Given the description of an element on the screen output the (x, y) to click on. 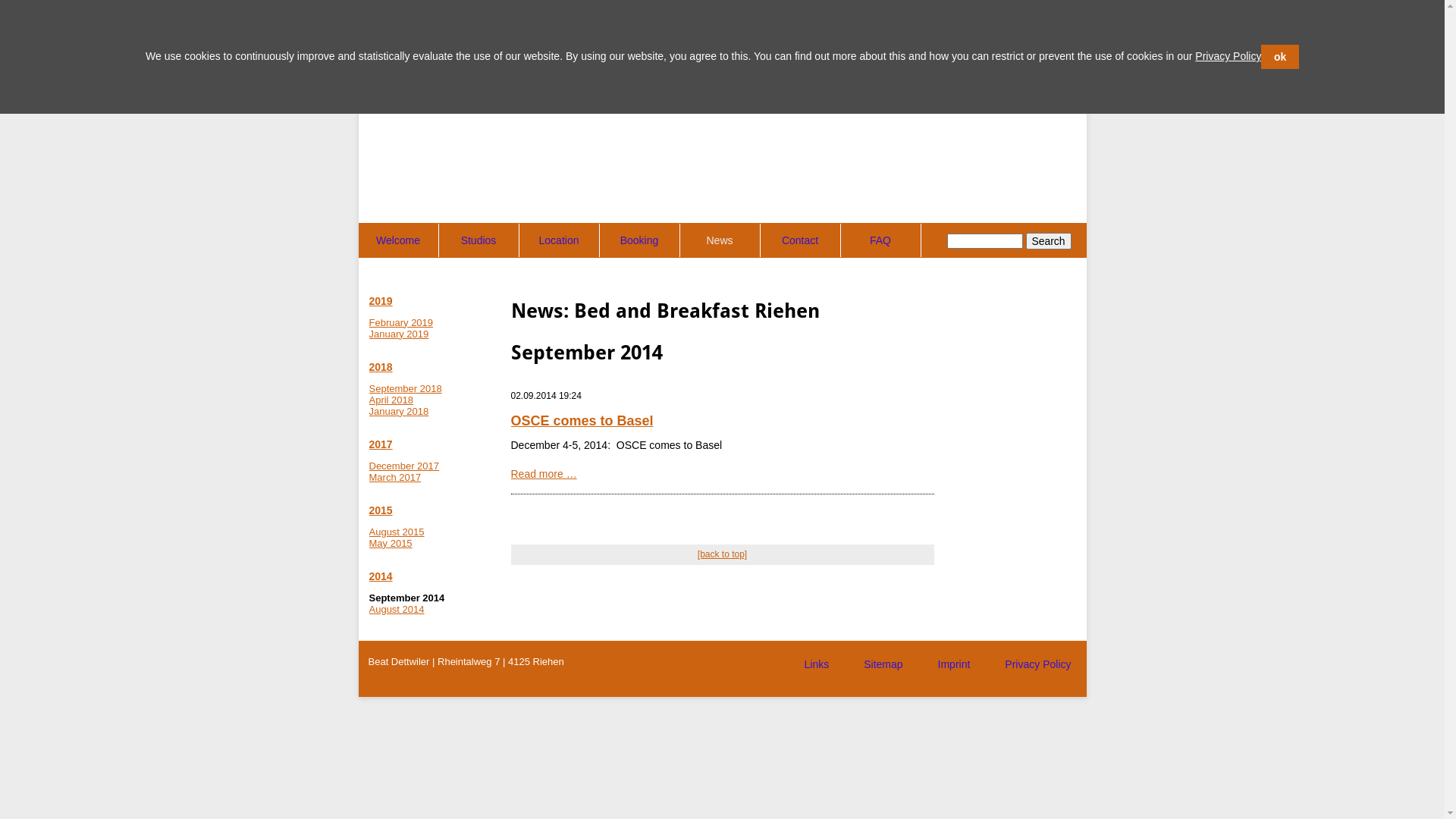
Privacy Policy Element type: text (1228, 56)
Welcome Element type: text (397, 240)
OSCE comes to Basel Element type: text (582, 420)
Sitemap Element type: text (882, 664)
FAQ Element type: text (879, 240)
Contact Element type: text (799, 240)
September 2018 Element type: text (404, 388)
January 2019 Element type: text (398, 333)
2018 Element type: text (380, 366)
Booking Element type: text (638, 240)
Location Element type: text (558, 240)
2017 Element type: text (380, 444)
March 2017 Element type: text (394, 477)
January 2018 Element type: text (398, 411)
February 2019 Element type: text (400, 322)
May 2015 Element type: text (389, 543)
Privacy Policy Element type: text (1037, 664)
2014 Element type: text (380, 576)
Skip navigation Element type: text (397, 222)
Search Element type: text (1048, 240)
December 2017 Element type: text (403, 465)
[back to top] Element type: text (721, 554)
Studios Element type: text (477, 240)
August 2015 Element type: text (395, 531)
ok Element type: text (1279, 56)
Links Element type: text (816, 664)
August 2014 Element type: text (395, 609)
2019 Element type: text (380, 300)
2015 Element type: text (380, 510)
  Element type: text (784, 669)
Imprint Element type: text (954, 664)
Skip navigation Element type: text (784, 655)
April 2018 Element type: text (390, 399)
Deutsch Element type: text (1043, 48)
